Given the description of an element on the screen output the (x, y) to click on. 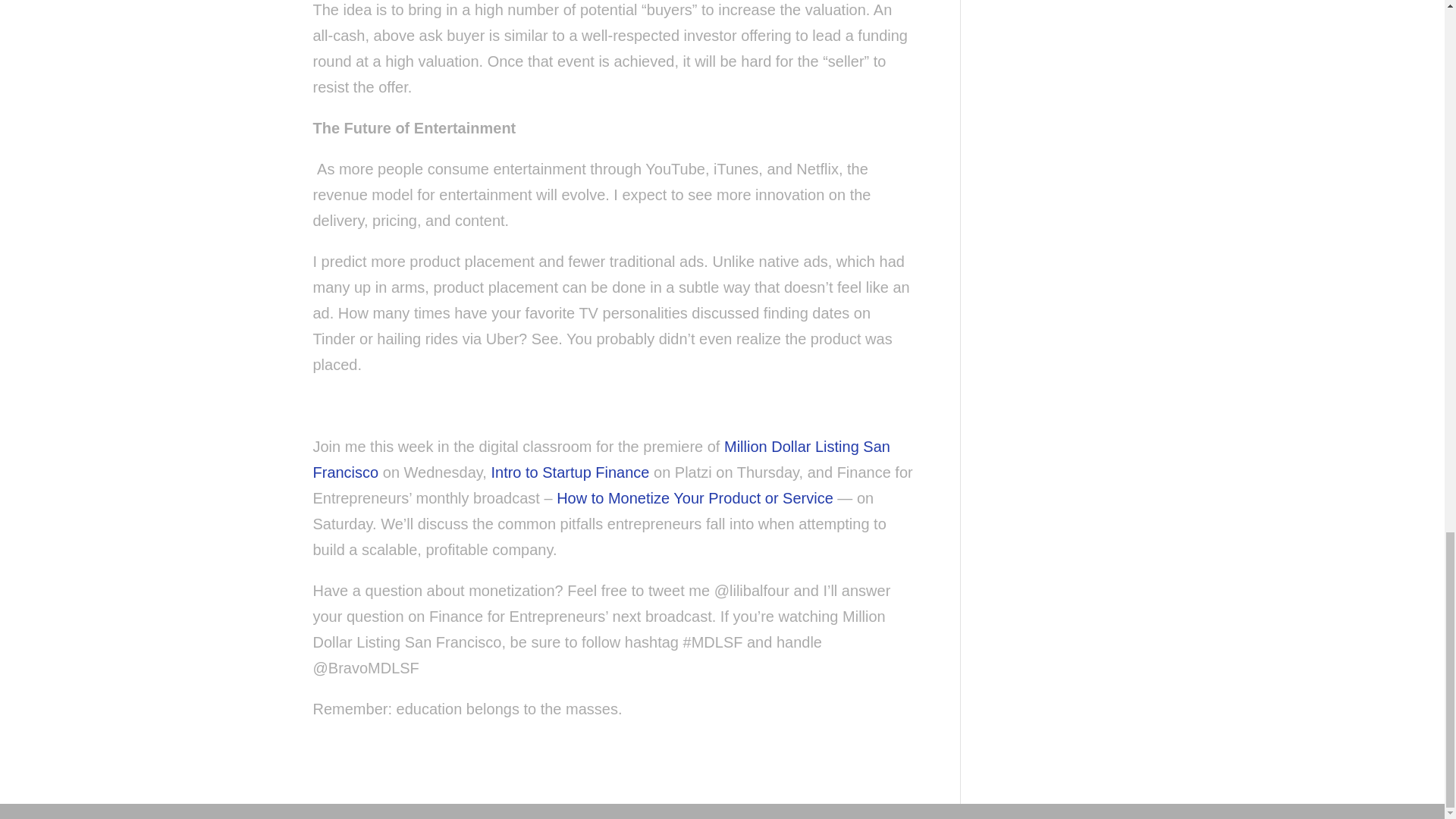
Intro to Startup Finance (569, 472)
Million Dollar Listing San Francisco (601, 459)
How to Monetize Your Product or Service (694, 497)
